Given the description of an element on the screen output the (x, y) to click on. 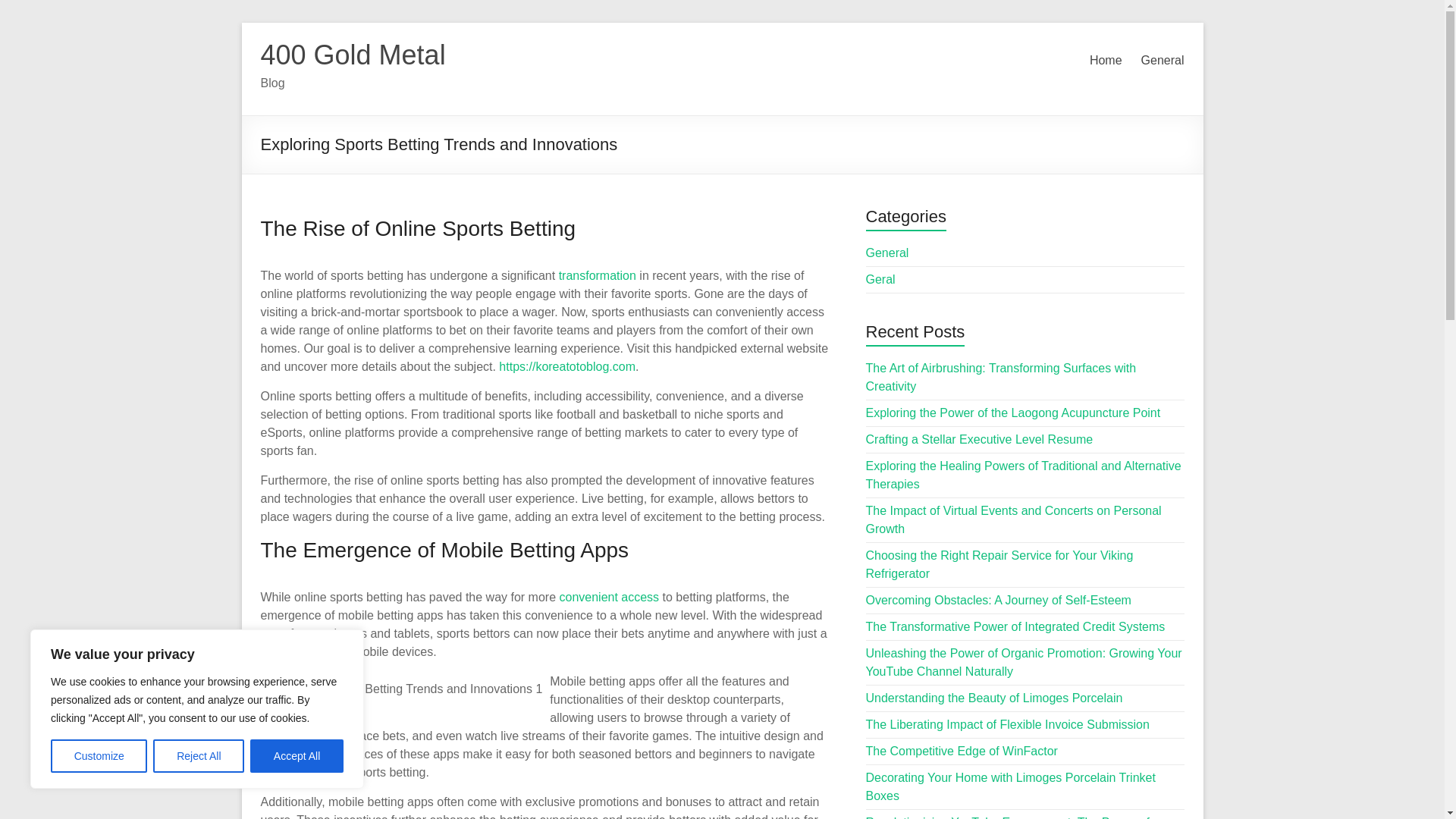
Crafting a Stellar Executive Level Resume (979, 439)
convenient access (609, 596)
General (887, 252)
Reject All (198, 756)
Customize (98, 756)
Geral (880, 278)
Accept All (296, 756)
400 Gold Metal (352, 54)
